Given the description of an element on the screen output the (x, y) to click on. 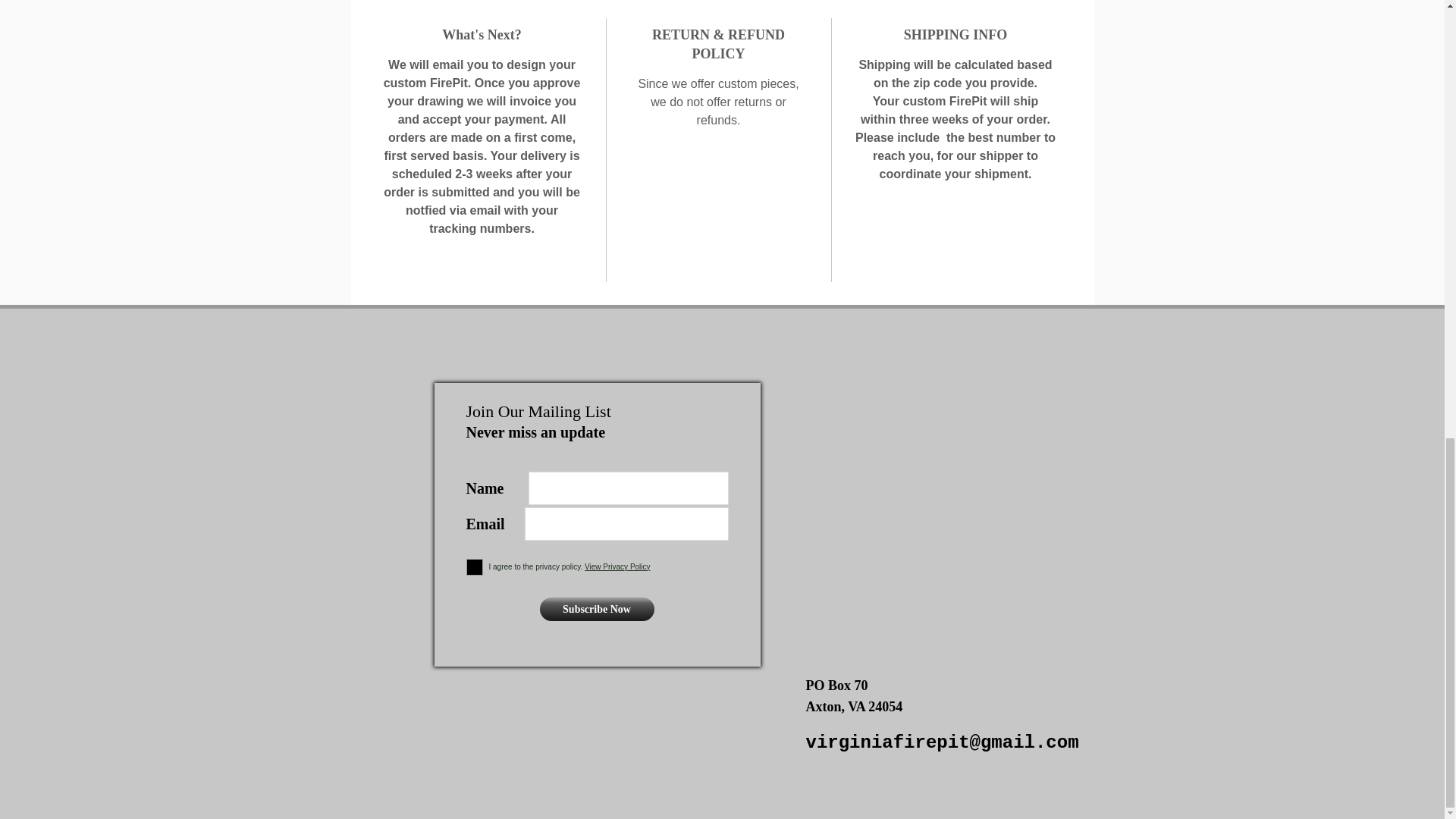
View Privacy Policy (617, 566)
Subscribe Now (596, 608)
